Given the description of an element on the screen output the (x, y) to click on. 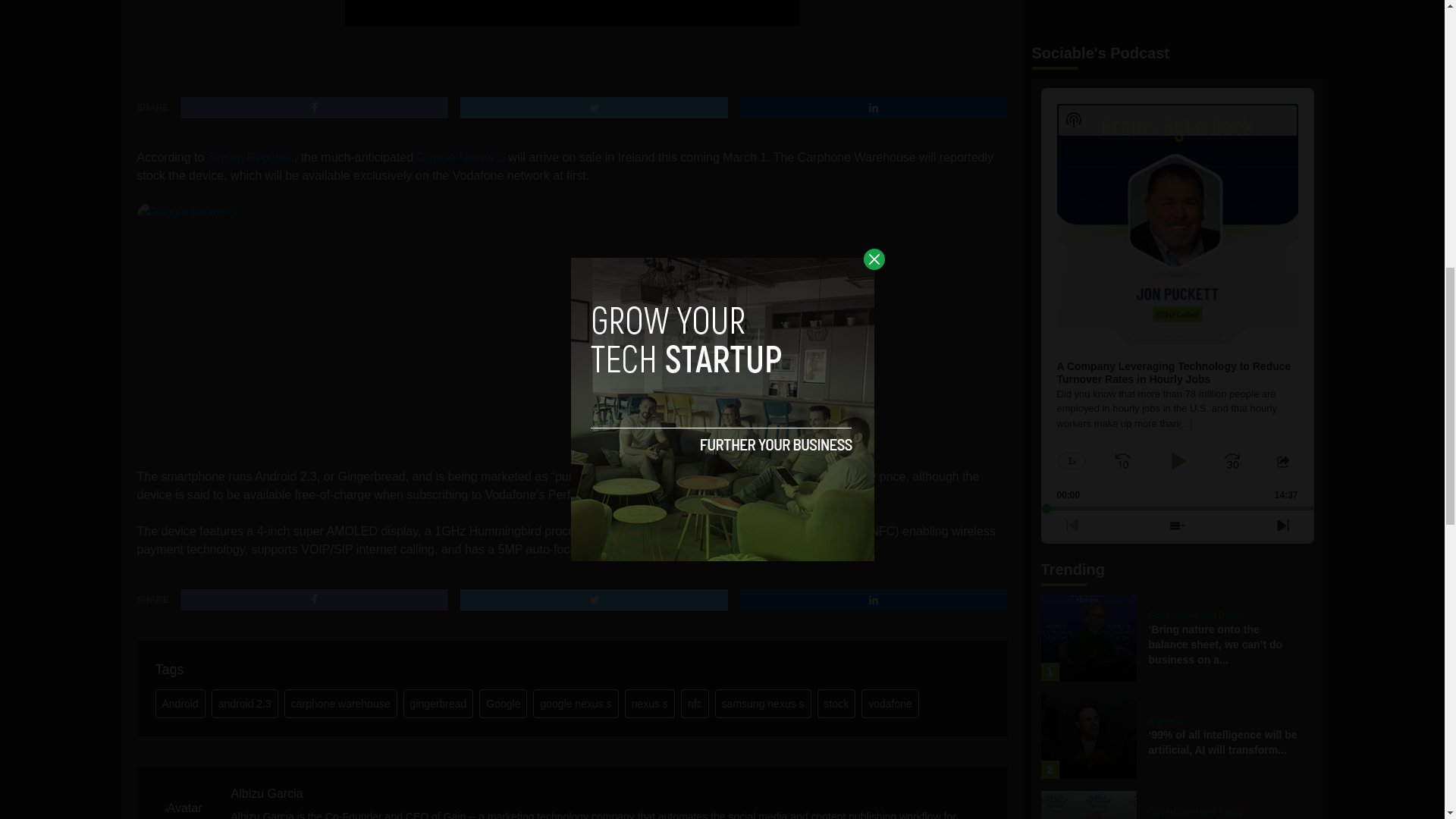
Silicon Republic (251, 156)
Google Nexus S (321, 326)
Android (179, 703)
Google Nexus S (460, 156)
Google (503, 703)
google nexus s (574, 703)
gingerbread (438, 703)
android 2.3 (244, 703)
nexus s (649, 703)
carphone warehouse (340, 703)
